Given the description of an element on the screen output the (x, y) to click on. 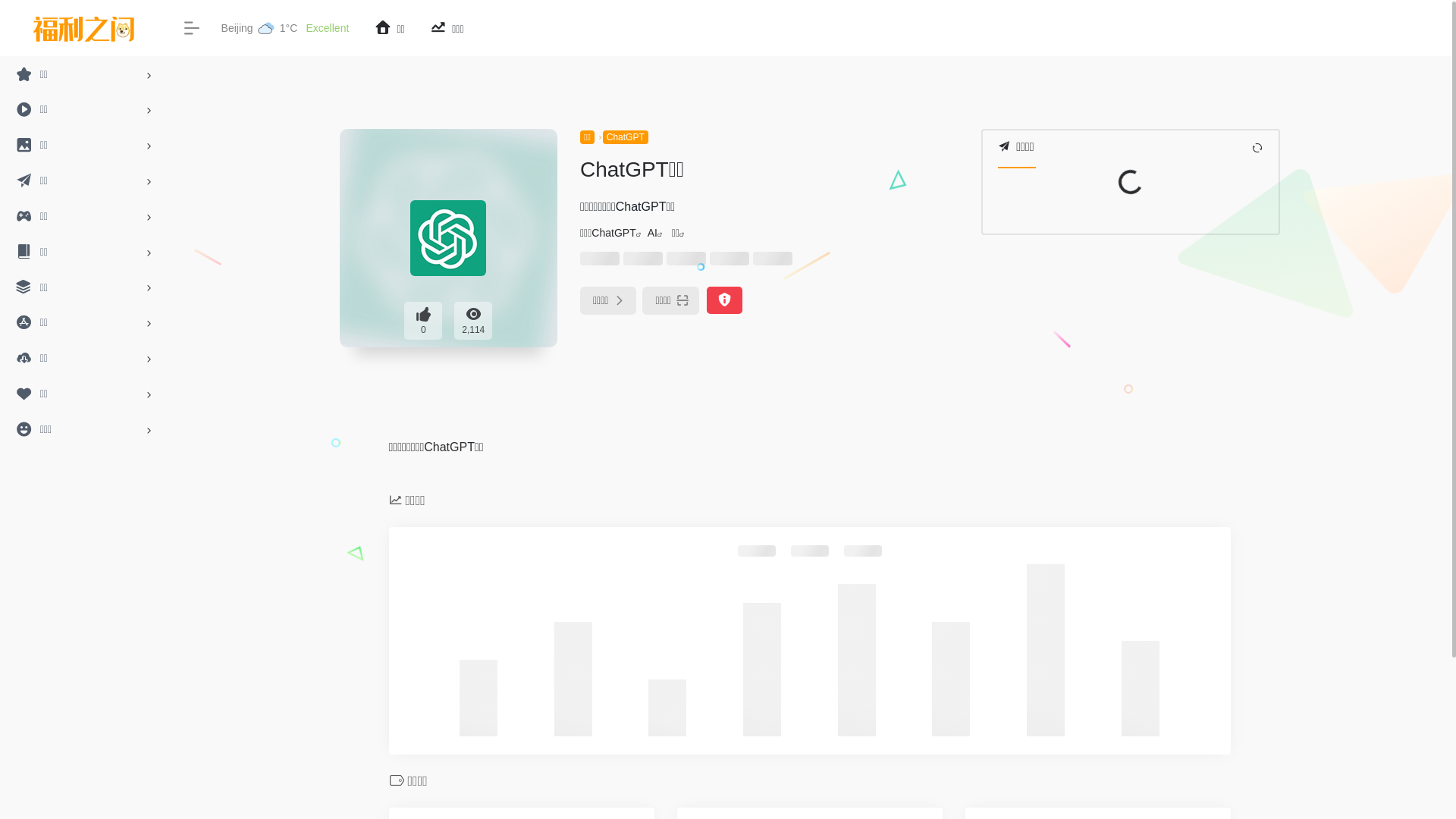
ChatGPT Element type: text (613, 232)
0 Element type: text (423, 320)
AI Element type: text (652, 232)
2,114 Element type: text (473, 320)
ChatGPT Element type: text (625, 137)
